Given the description of an element on the screen output the (x, y) to click on. 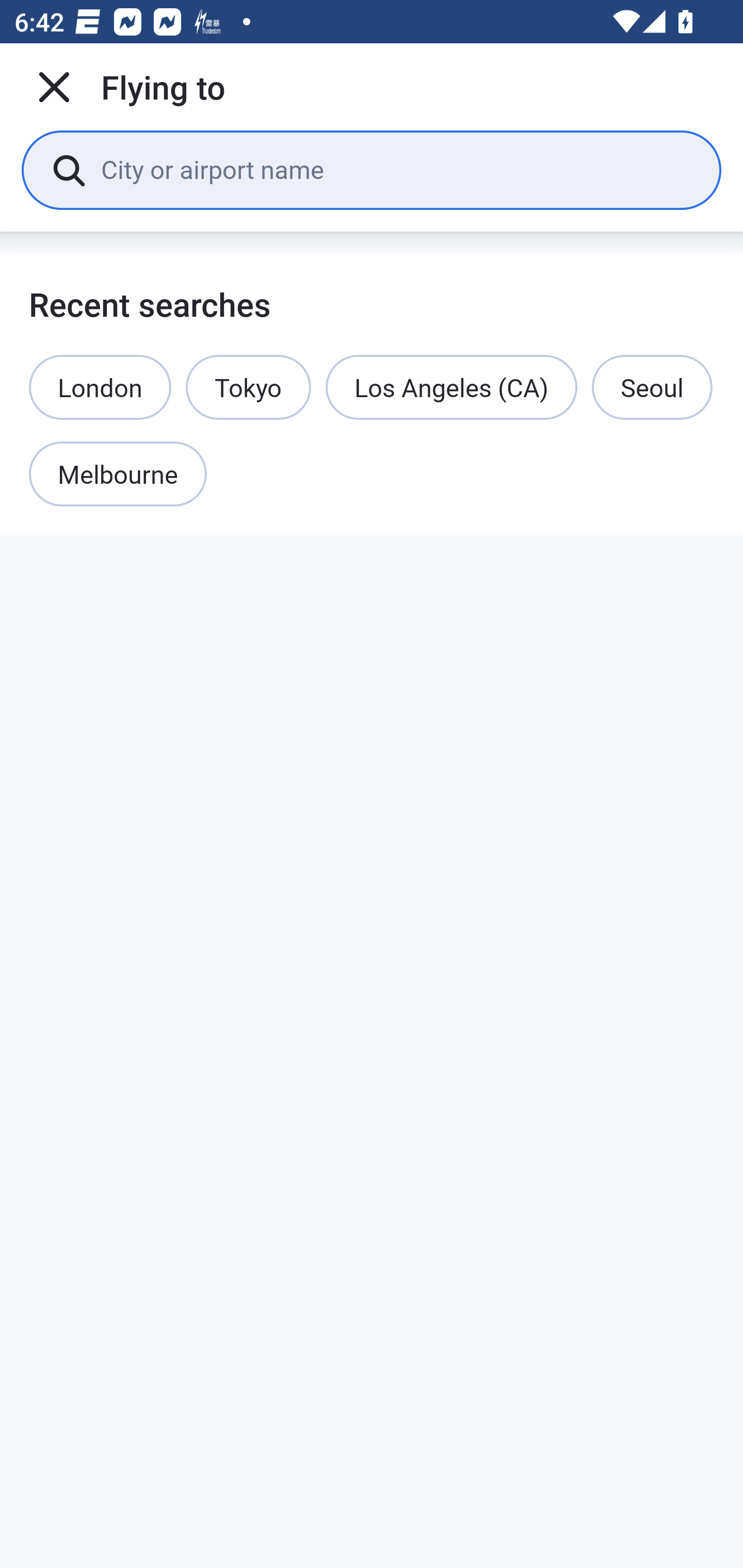
City or airport name (396, 169)
London (99, 387)
Tokyo (248, 387)
Los Angeles (CA) (451, 387)
Seoul (652, 387)
Melbourne (117, 474)
